Given the description of an element on the screen output the (x, y) to click on. 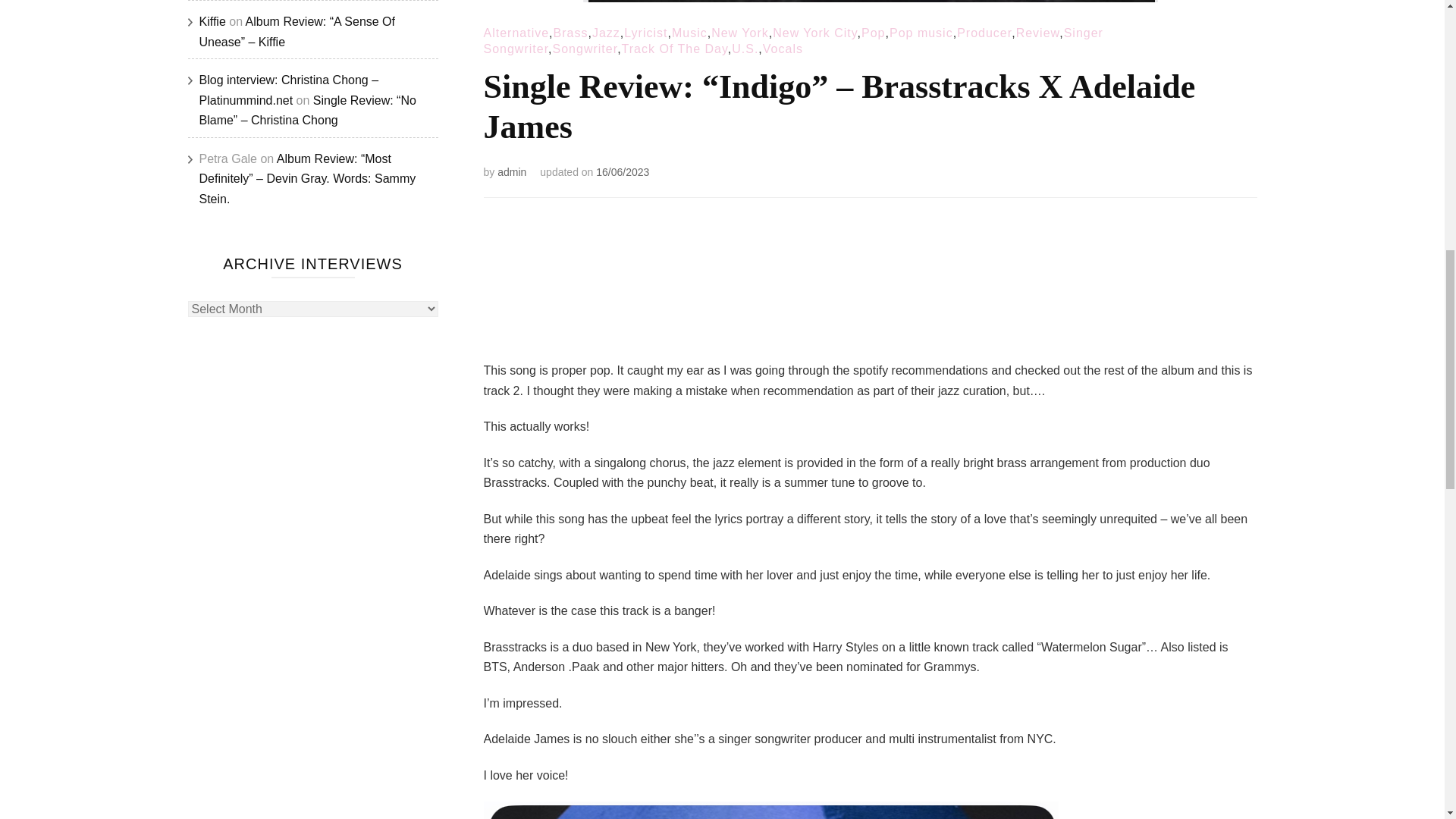
Lyricist (645, 32)
Spotify Embed: Indigo (870, 284)
Track Of The Day (674, 48)
Pop music (921, 32)
Singer Songwriter (793, 40)
Review (1037, 32)
admin (511, 172)
Pop (873, 32)
Vocals (782, 48)
U.S. (745, 48)
